Given the description of an element on the screen output the (x, y) to click on. 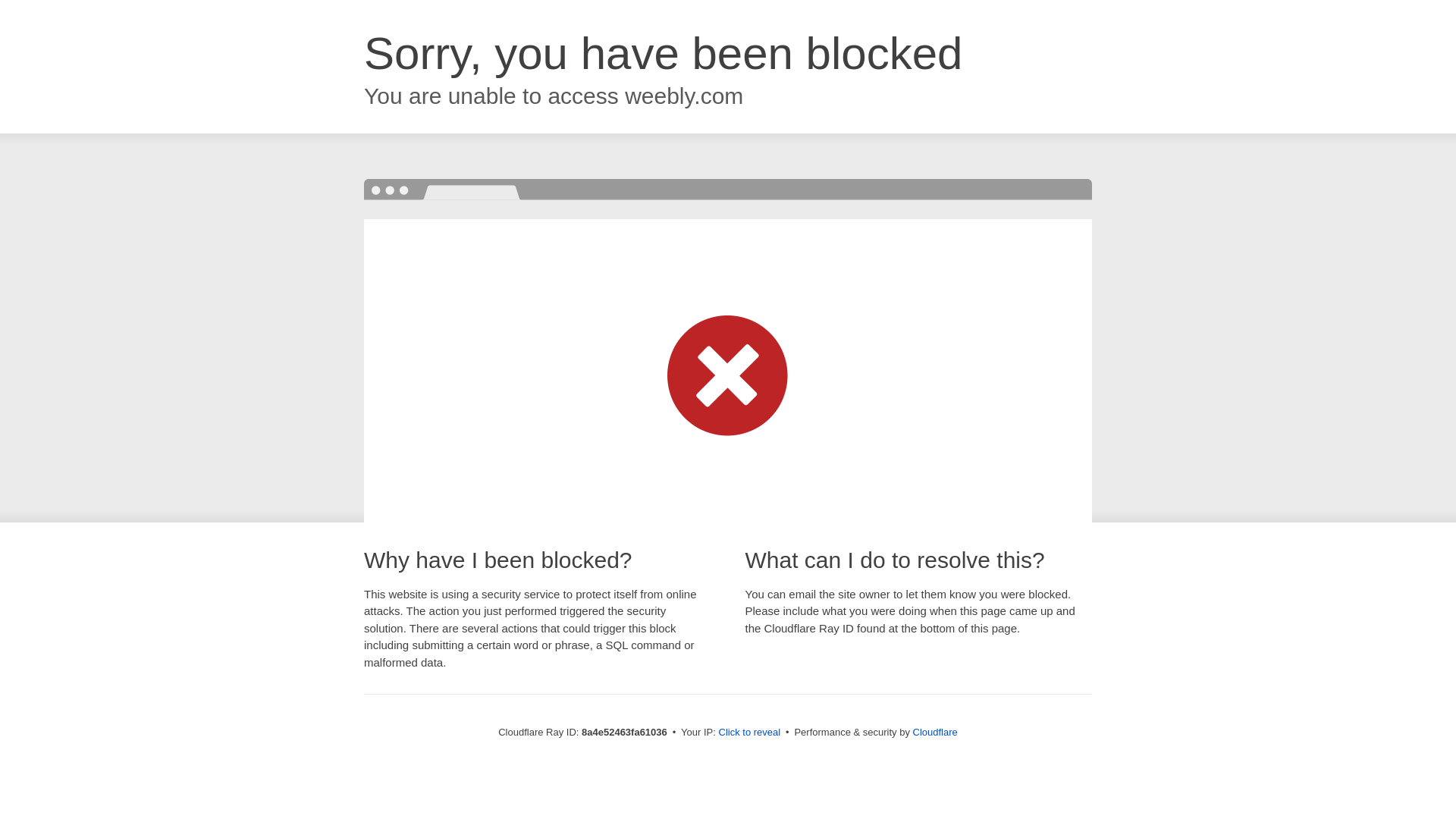
Cloudflare (935, 731)
Click to reveal (749, 732)
